Given the description of an element on the screen output the (x, y) to click on. 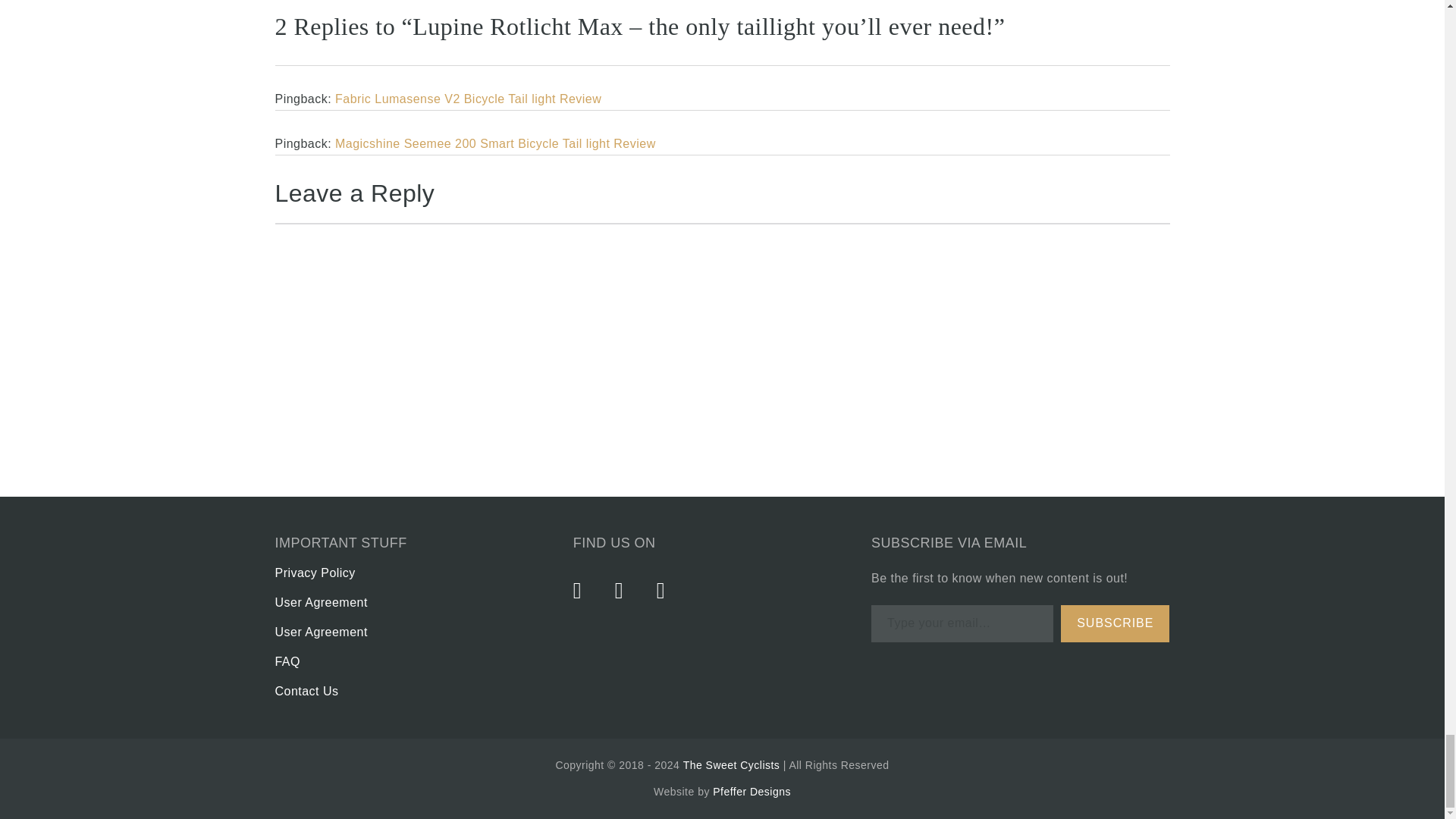
Please fill in this field. (961, 623)
